Given the description of an element on the screen output the (x, y) to click on. 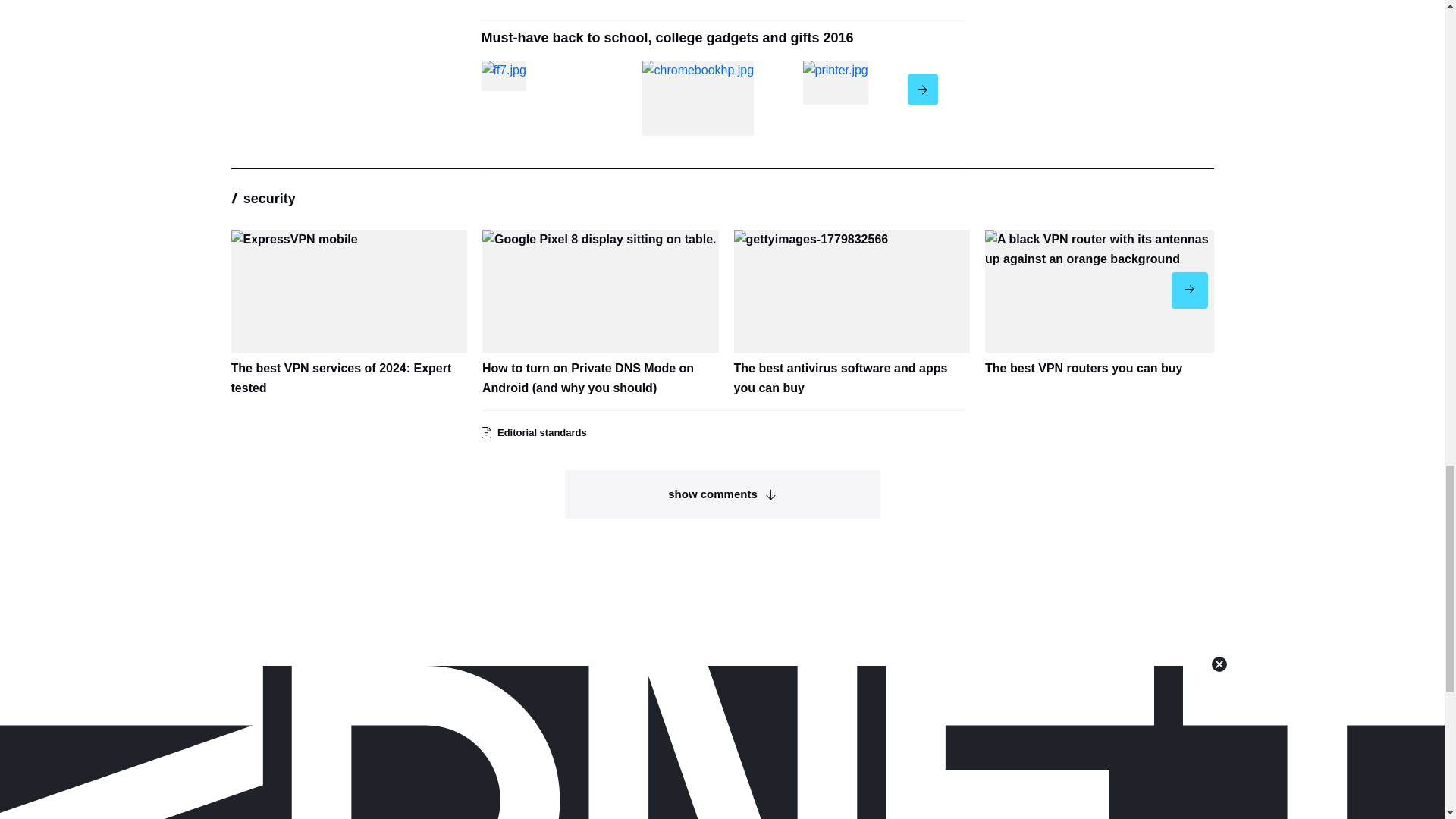
The best VPN services of 2024: Expert tested (348, 314)
The best antivirus software and apps you can buy (852, 314)
The best VPN routers you can buy (1103, 304)
